Given the description of an element on the screen output the (x, y) to click on. 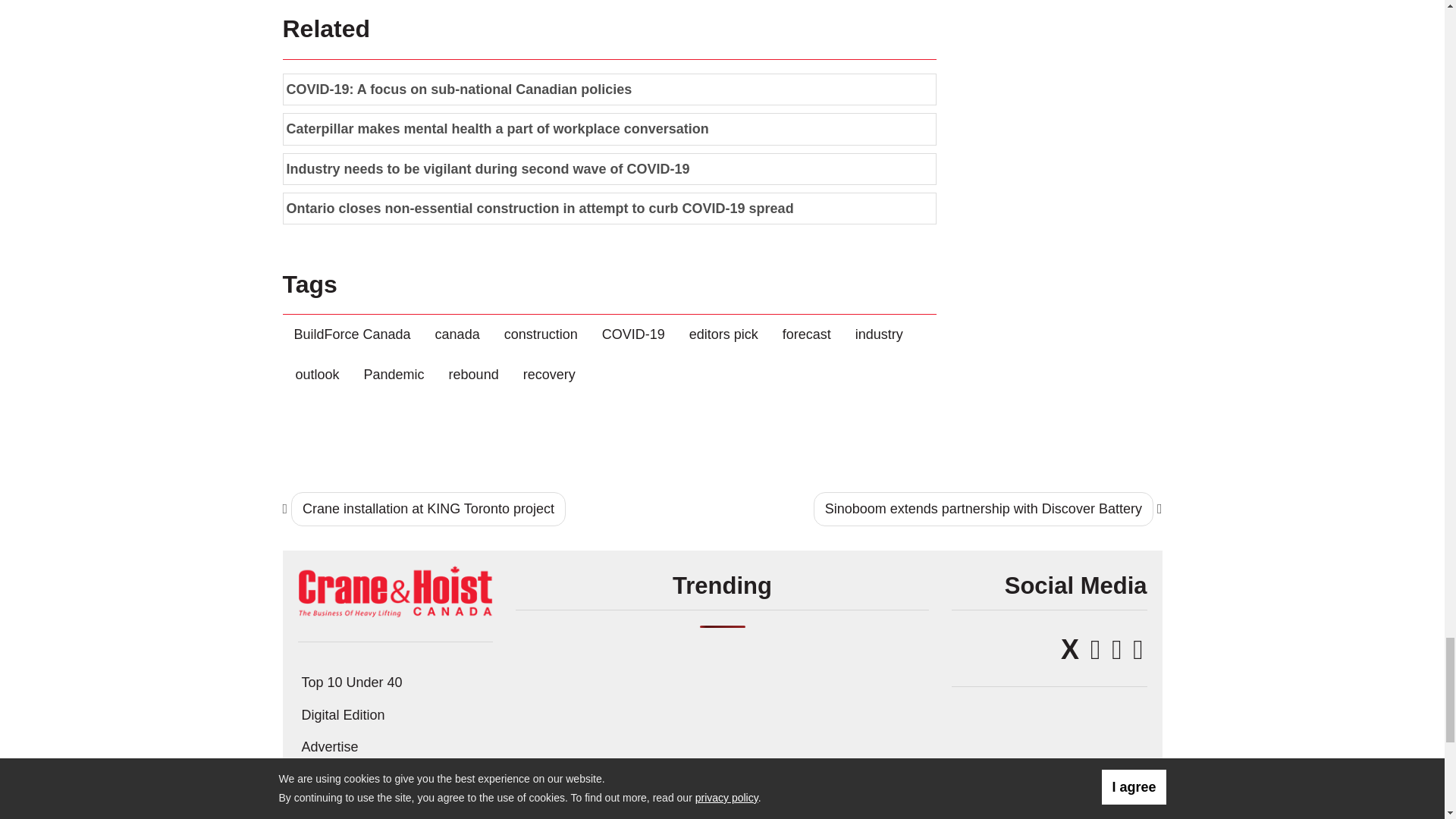
Crane and Hoist Canada (395, 590)
